Given the description of an element on the screen output the (x, y) to click on. 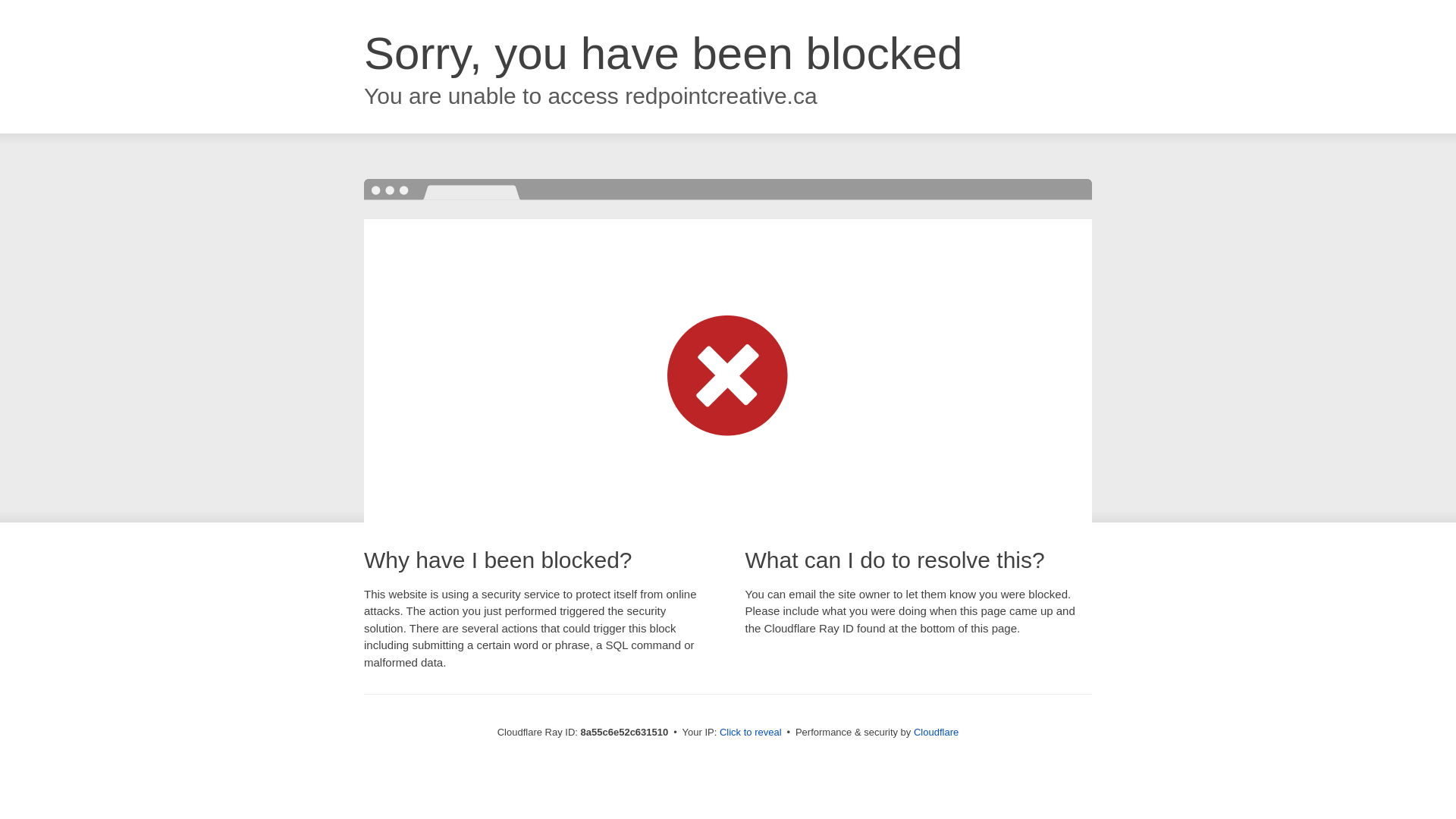
Click to reveal (750, 732)
Cloudflare (936, 731)
